Given the description of an element on the screen output the (x, y) to click on. 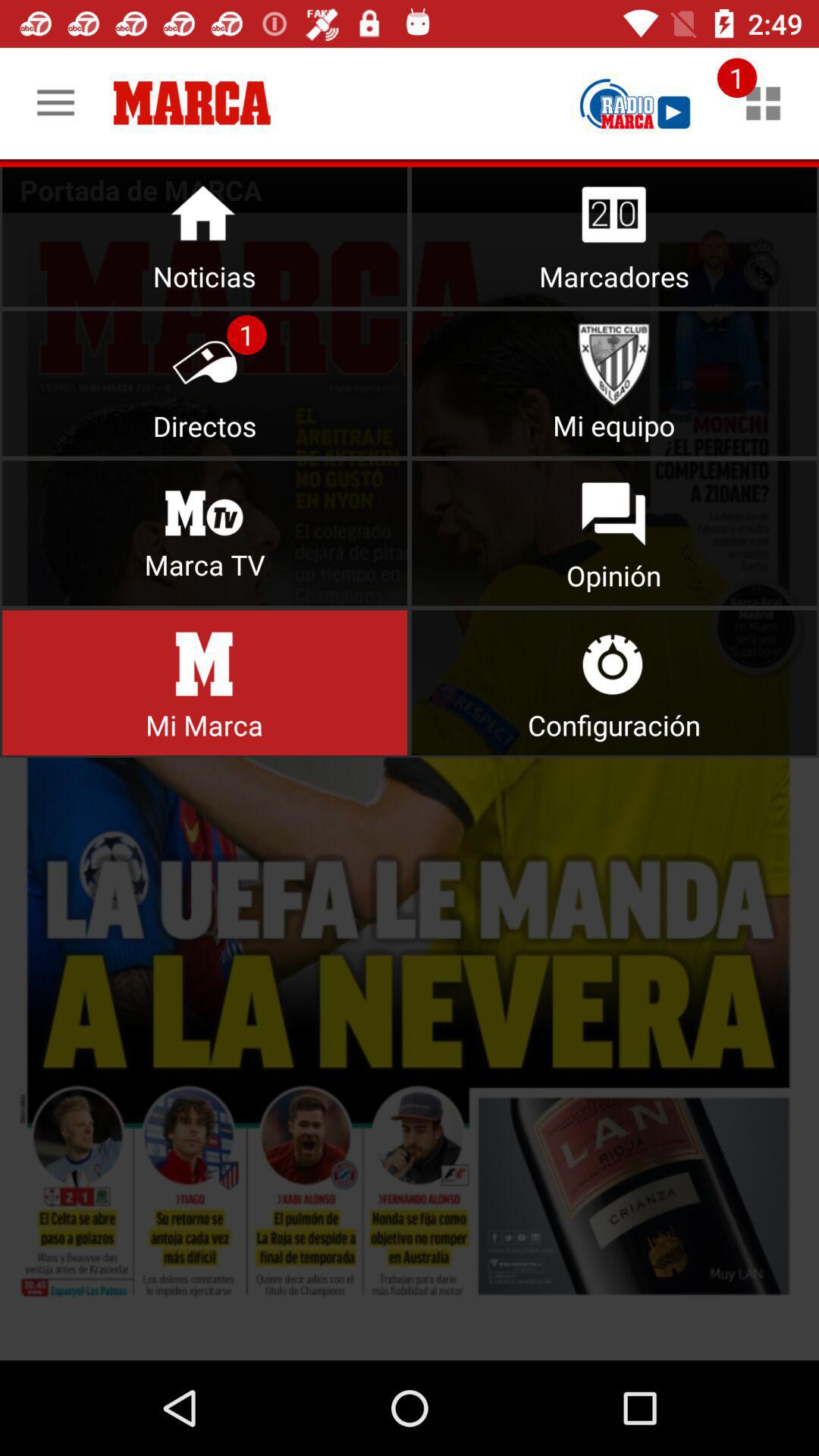
mi marca selection (204, 682)
